Given the description of an element on the screen output the (x, y) to click on. 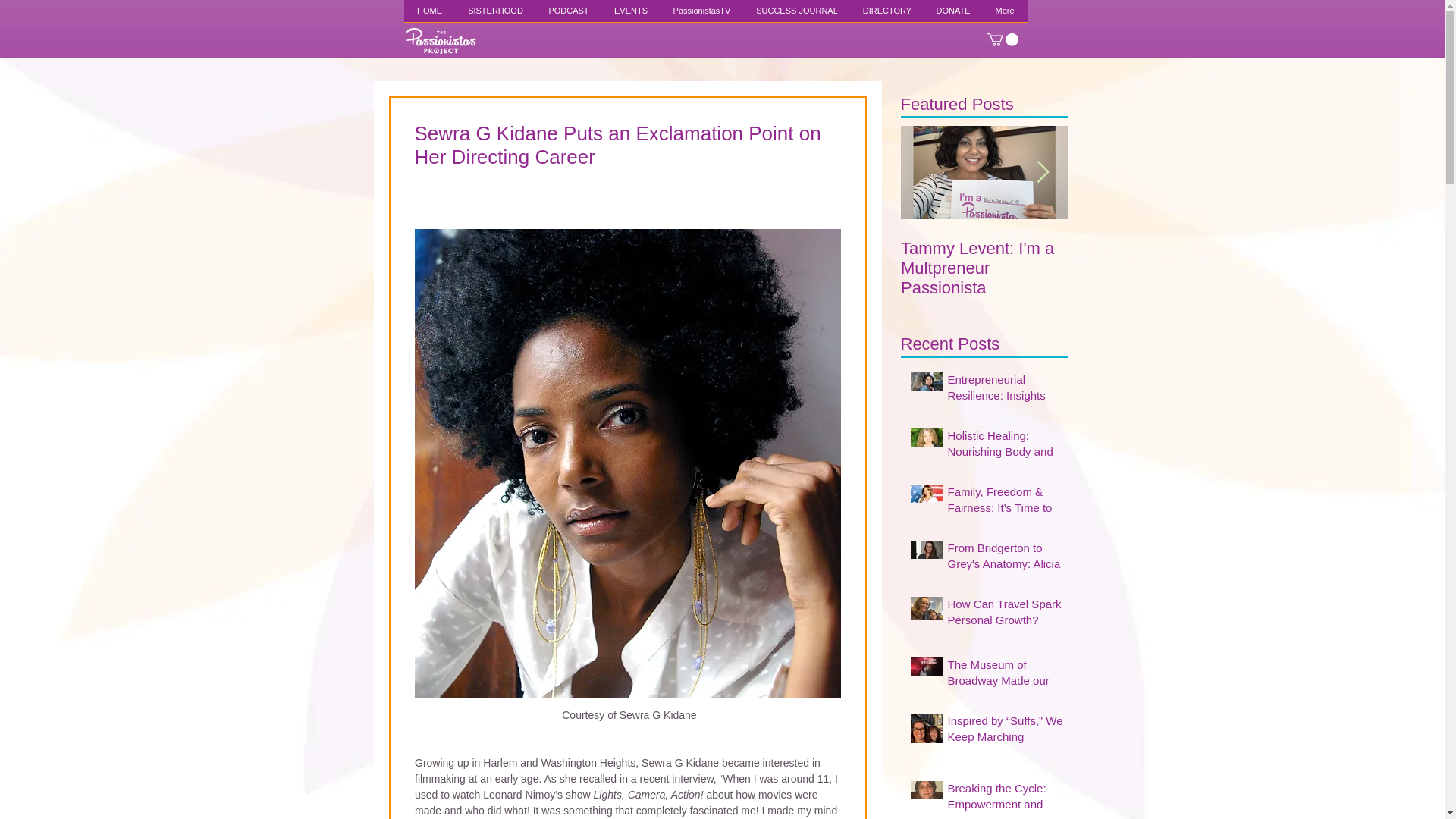
PODCAST (568, 15)
HOME (428, 15)
SUCCESS JOURNAL (796, 15)
DIRECTORY (887, 15)
SISTERHOOD (494, 15)
DONATE (952, 15)
EVENTS (631, 15)
PassionistasTV (700, 15)
